Given the description of an element on the screen output the (x, y) to click on. 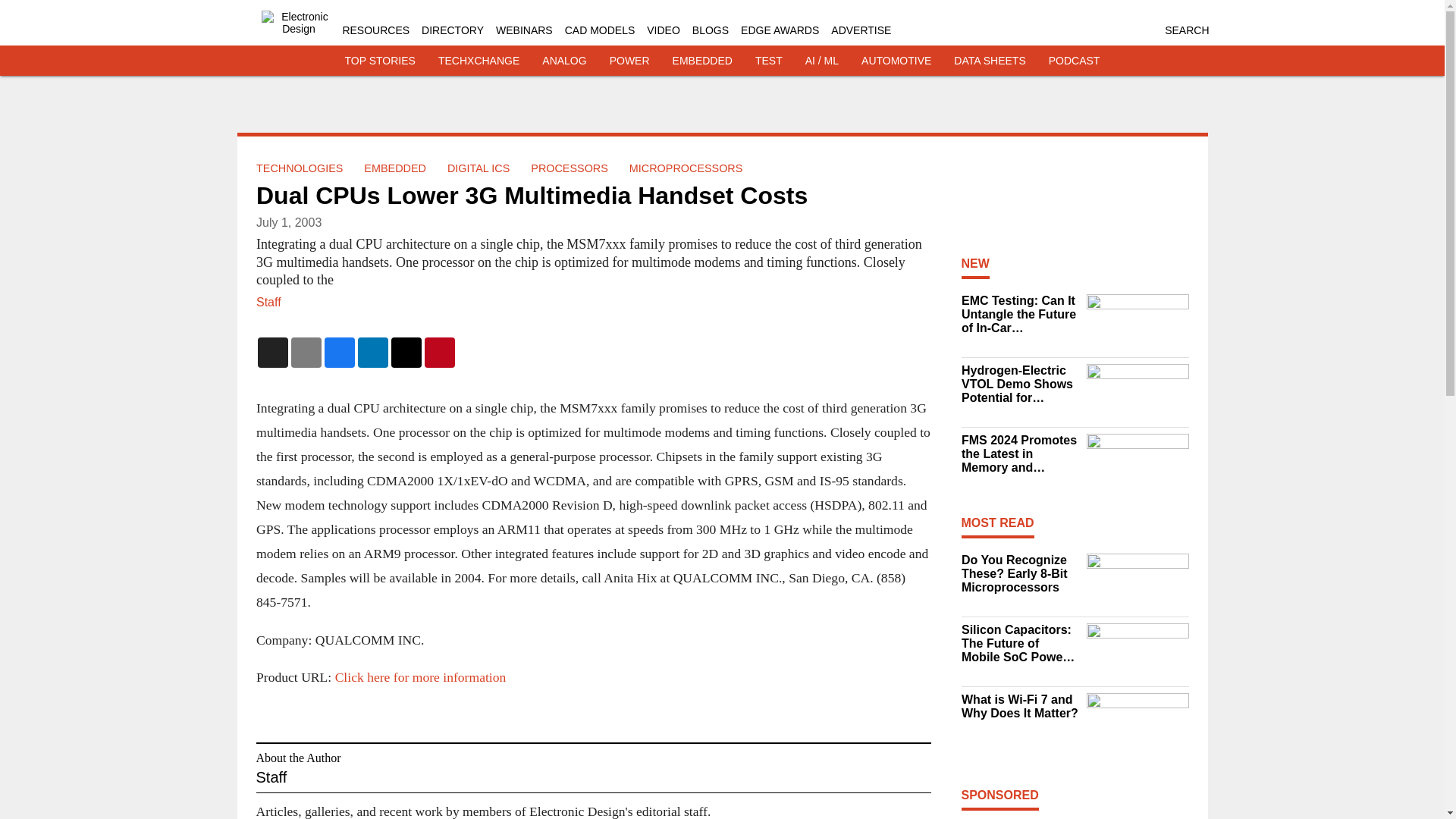
TEST (769, 60)
WEBINARS (524, 30)
TECHNOLOGIES (299, 168)
MICROPROCESSORS (685, 168)
EMBEDDED (702, 60)
Staff (268, 301)
VIDEO (662, 30)
POWER (629, 60)
CAD MODELS (599, 30)
ADVERTISE (861, 30)
